Given the description of an element on the screen output the (x, y) to click on. 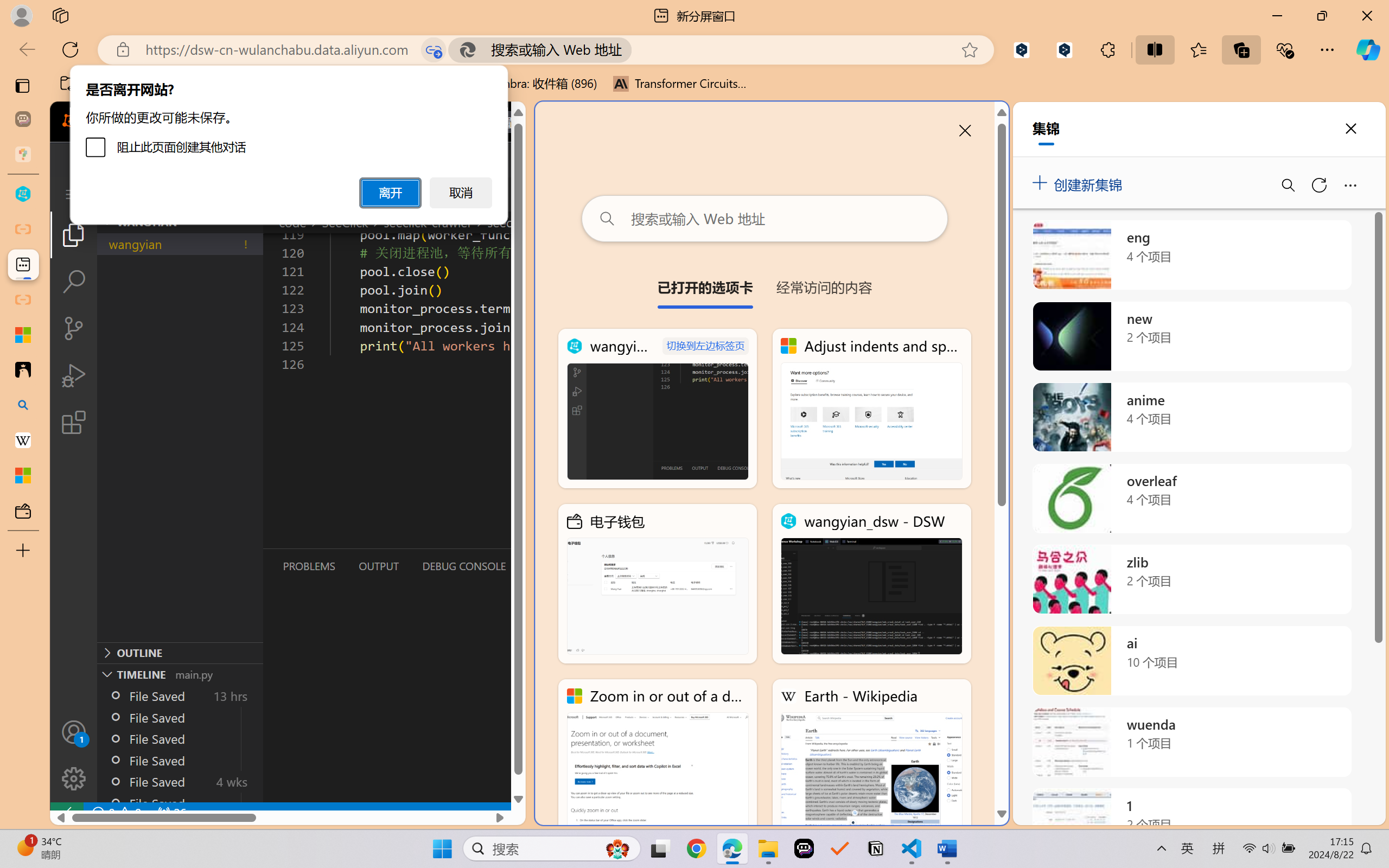
Transformer Circuits Thread (680, 83)
Run and Debug (Ctrl+Shift+D) (73, 375)
Google Chrome (696, 848)
Output (Ctrl+Shift+U) (377, 565)
Adjust indents and spacing - Microsoft Support (871, 408)
